Given the description of an element on the screen output the (x, y) to click on. 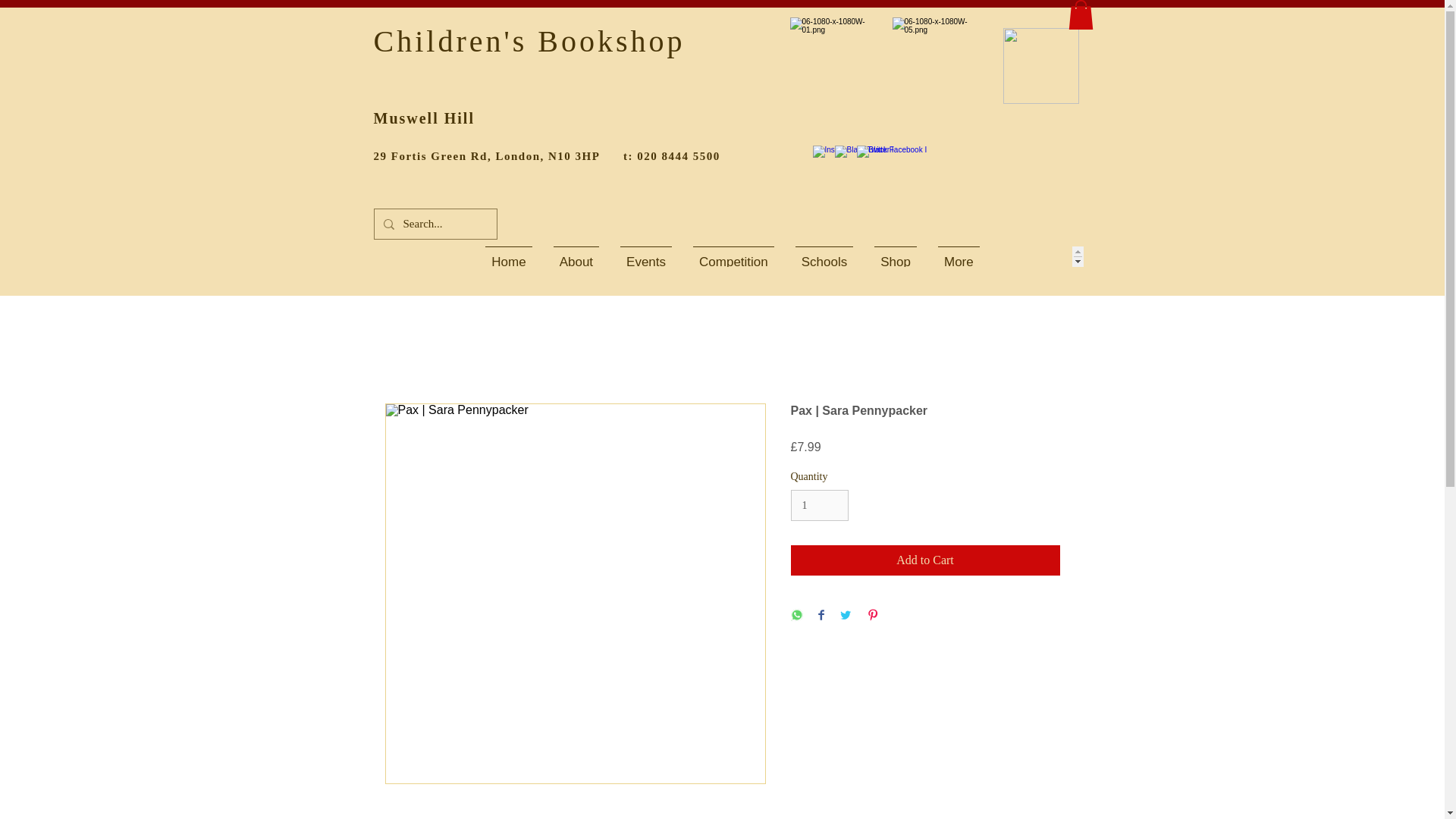
Children's Bookshop (528, 41)
Schools (823, 256)
Competition (733, 256)
Muswell Hill (423, 117)
About (576, 256)
Shop (895, 256)
1 (818, 504)
Events (646, 256)
Home (507, 256)
